Given the description of an element on the screen output the (x, y) to click on. 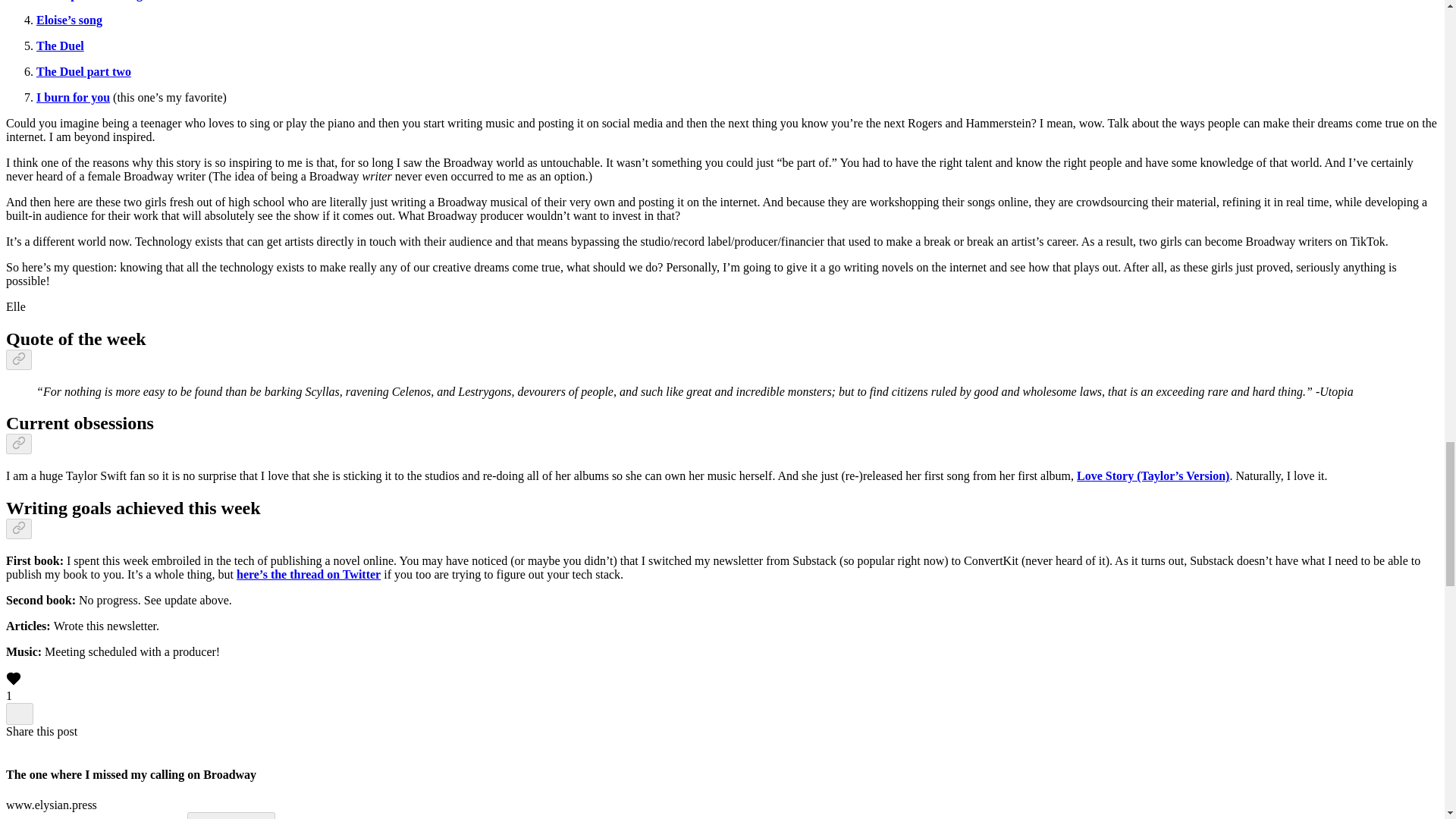
I burn for you (73, 97)
The Duel part two (83, 71)
The Duel (60, 45)
